Given the description of an element on the screen output the (x, y) to click on. 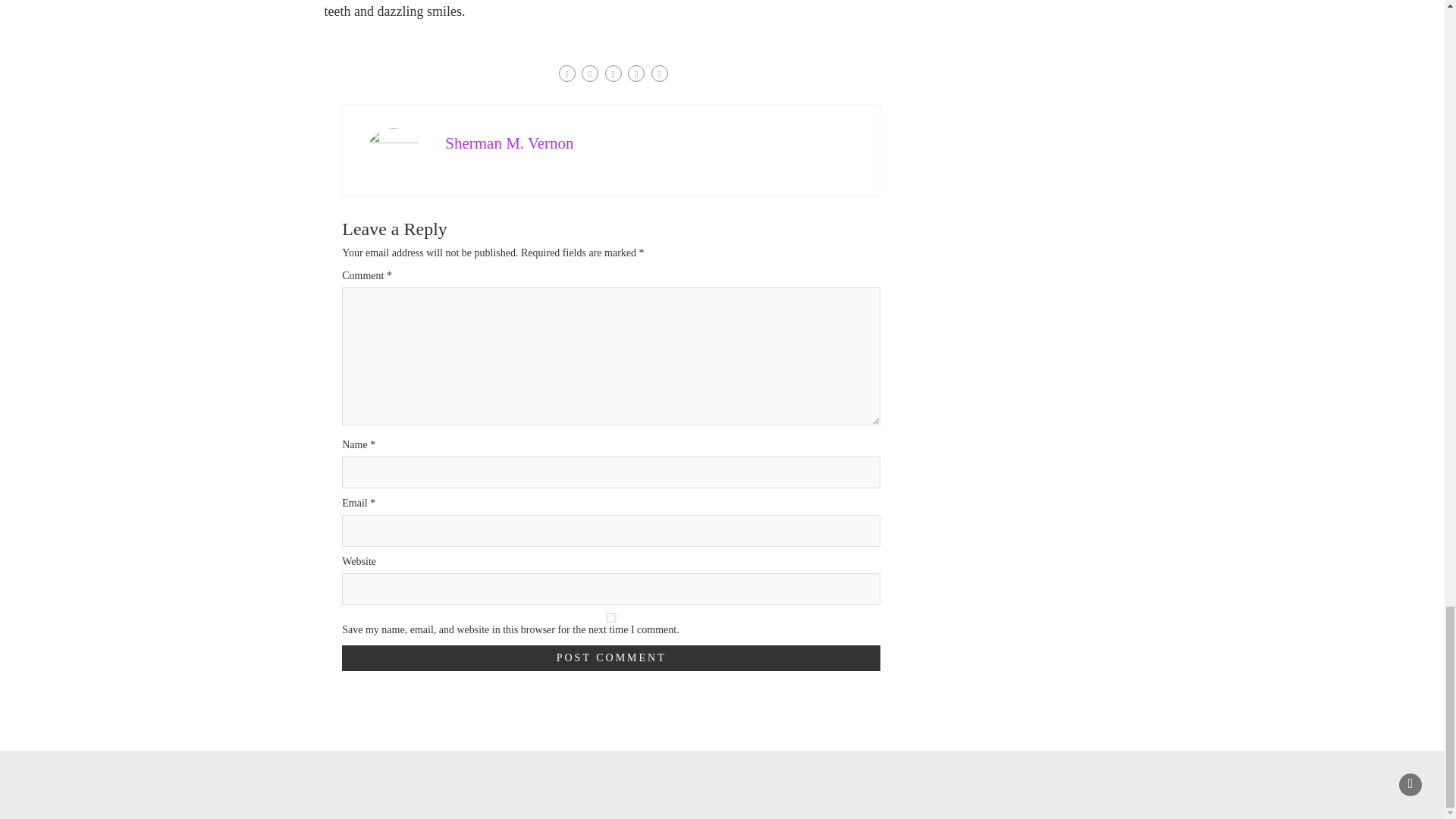
Post Comment (611, 657)
Post Comment (611, 657)
yes (611, 617)
Sherman M. Vernon (509, 143)
